Given the description of an element on the screen output the (x, y) to click on. 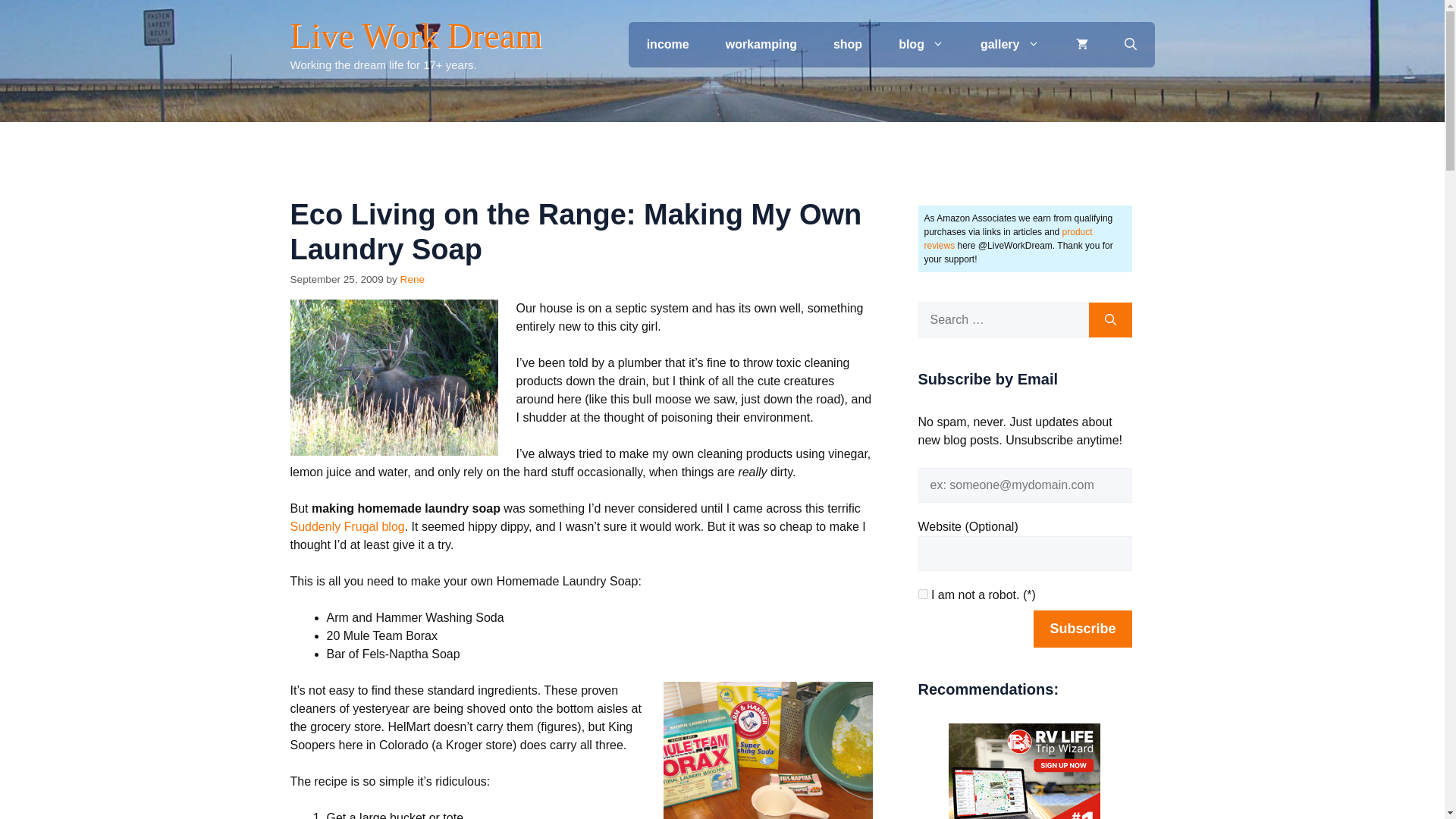
workamping (761, 44)
Suddenly Frugal blog (346, 526)
gallery (1010, 44)
Live Work Dream (415, 35)
Homemade DIY Laundry Soap Recipe (767, 750)
Subscribe (1082, 628)
shop (847, 44)
blog (921, 44)
Rene (412, 279)
Suddenly Frugal Homemade Laundry Soap (346, 526)
income (667, 44)
Search for: (1002, 319)
on (922, 593)
View your shopping cart (1081, 44)
View all posts by Rene (412, 279)
